Given the description of an element on the screen output the (x, y) to click on. 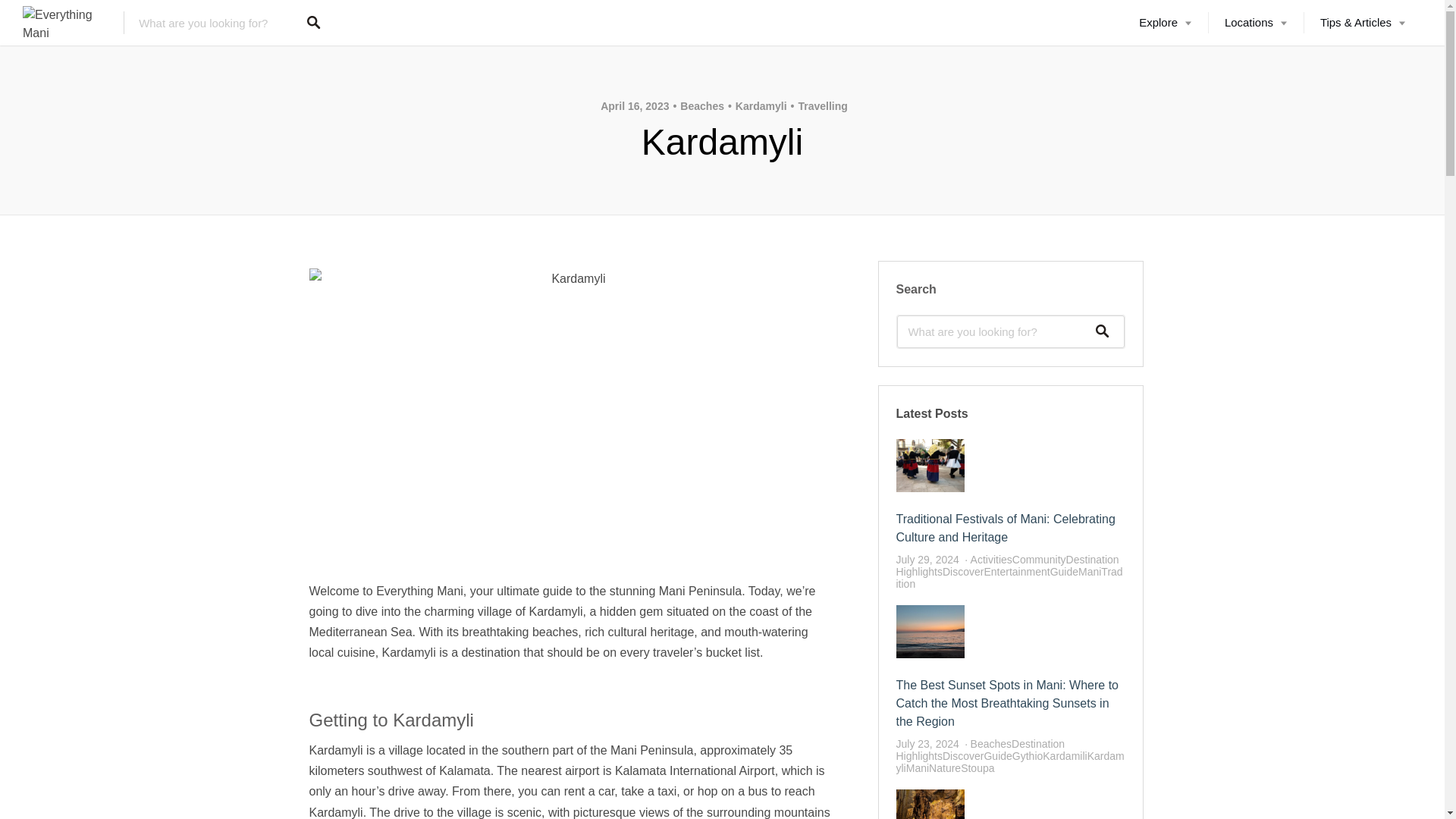
Explore (1165, 22)
